Given the description of an element on the screen output the (x, y) to click on. 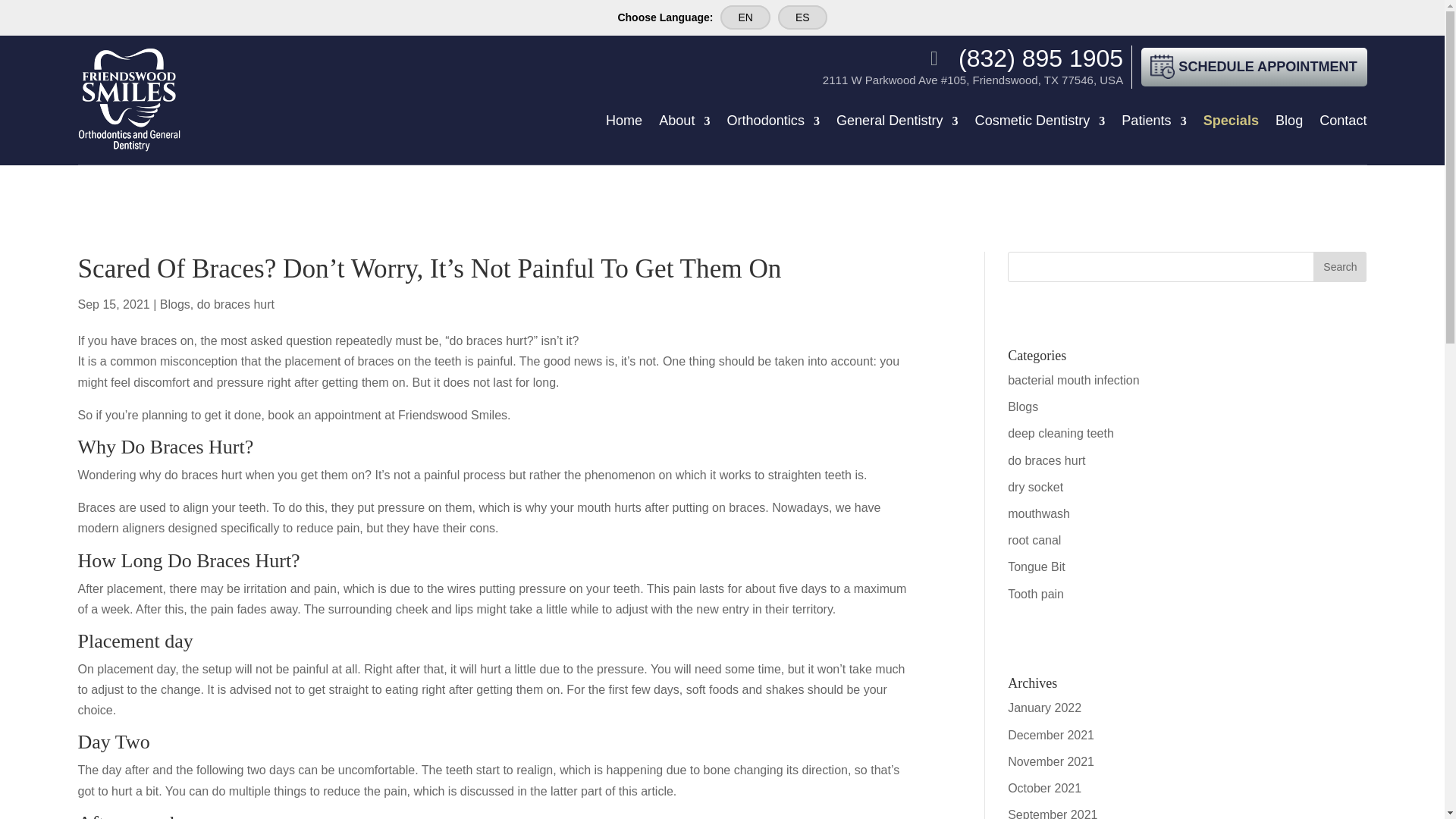
Cosmetic Dentistry (1040, 124)
Search (1340, 266)
Blog (1289, 124)
Contact (1343, 124)
Orthodontics (772, 124)
General Dentistry (896, 124)
About (684, 124)
Specials (1231, 124)
Home (623, 124)
Patients (1153, 124)
